Given the description of an element on the screen output the (x, y) to click on. 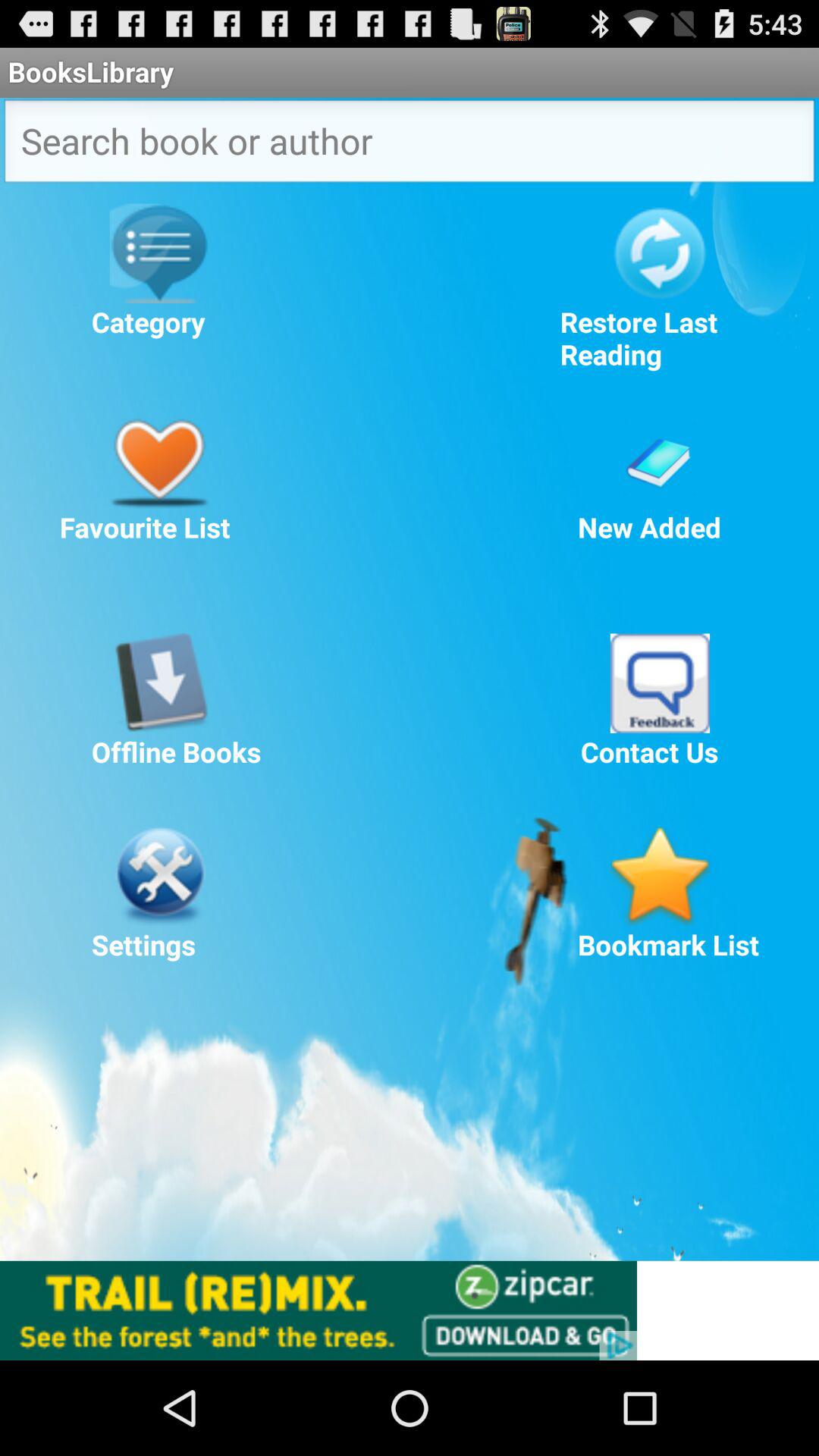
offline books (158, 683)
